Given the description of an element on the screen output the (x, y) to click on. 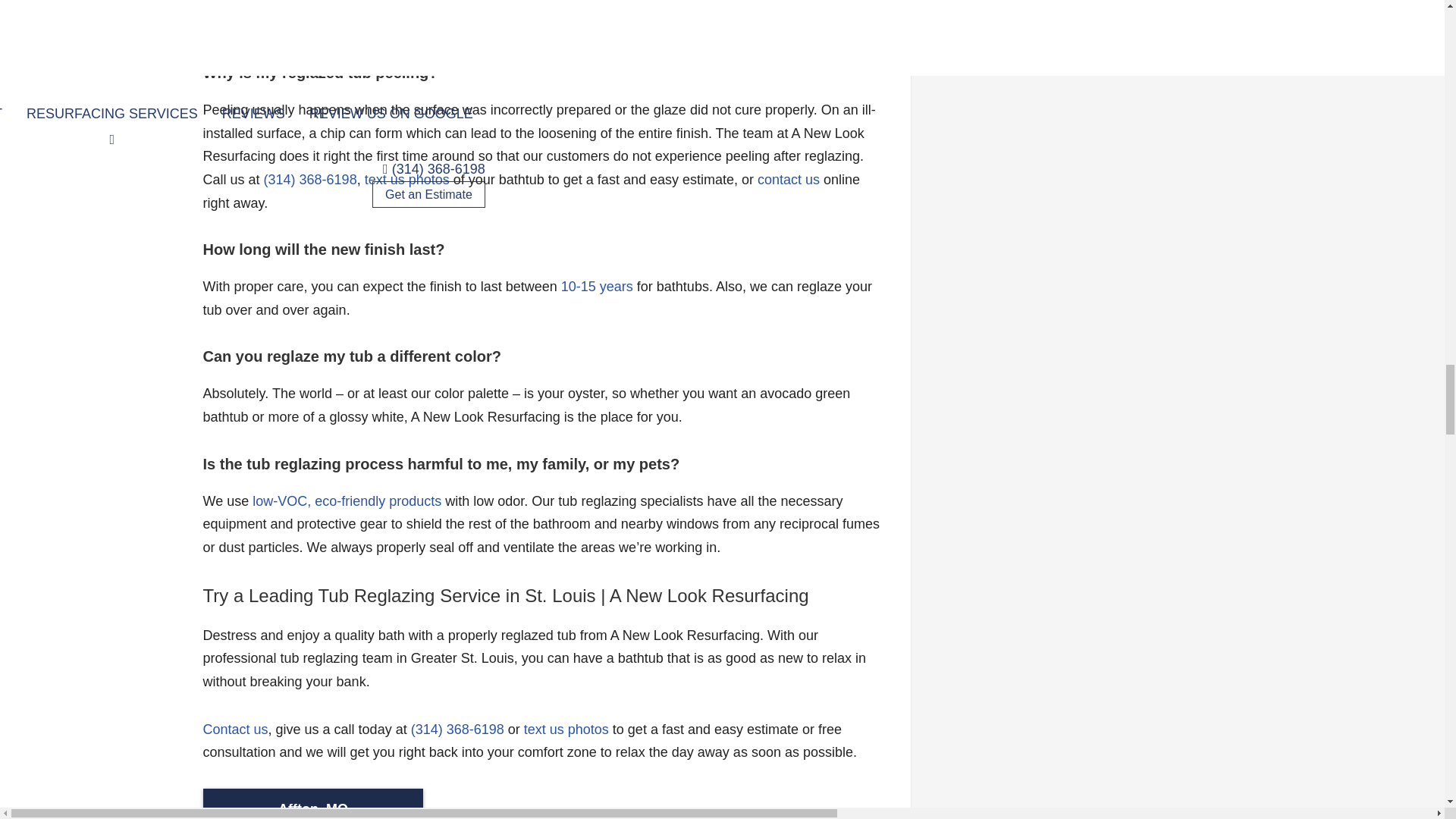
low-VOC, eco-friendly products (346, 500)
contact us (788, 179)
10-15 years (596, 286)
Tub Reglazing St. Louis, MO - angi.com (596, 286)
Tub Reglazing St. Louis, MO - corrosionpedia.com (346, 500)
text us photos (407, 179)
